Given the description of an element on the screen output the (x, y) to click on. 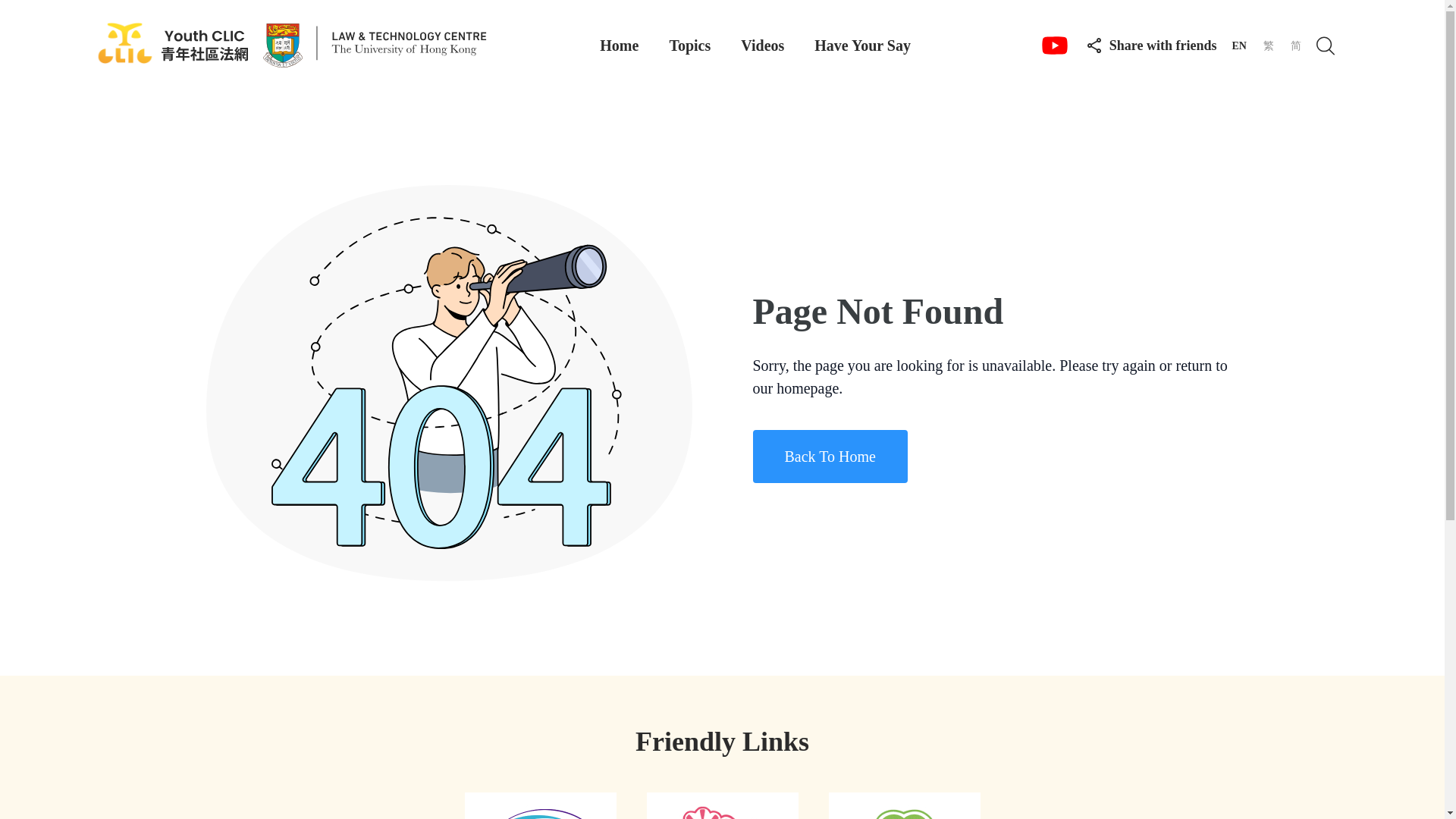
Have Your Say (862, 45)
EN (1238, 45)
Videos (762, 45)
Home (619, 45)
Topics (689, 45)
EN (1238, 45)
Share with friends (1150, 44)
